Given the description of an element on the screen output the (x, y) to click on. 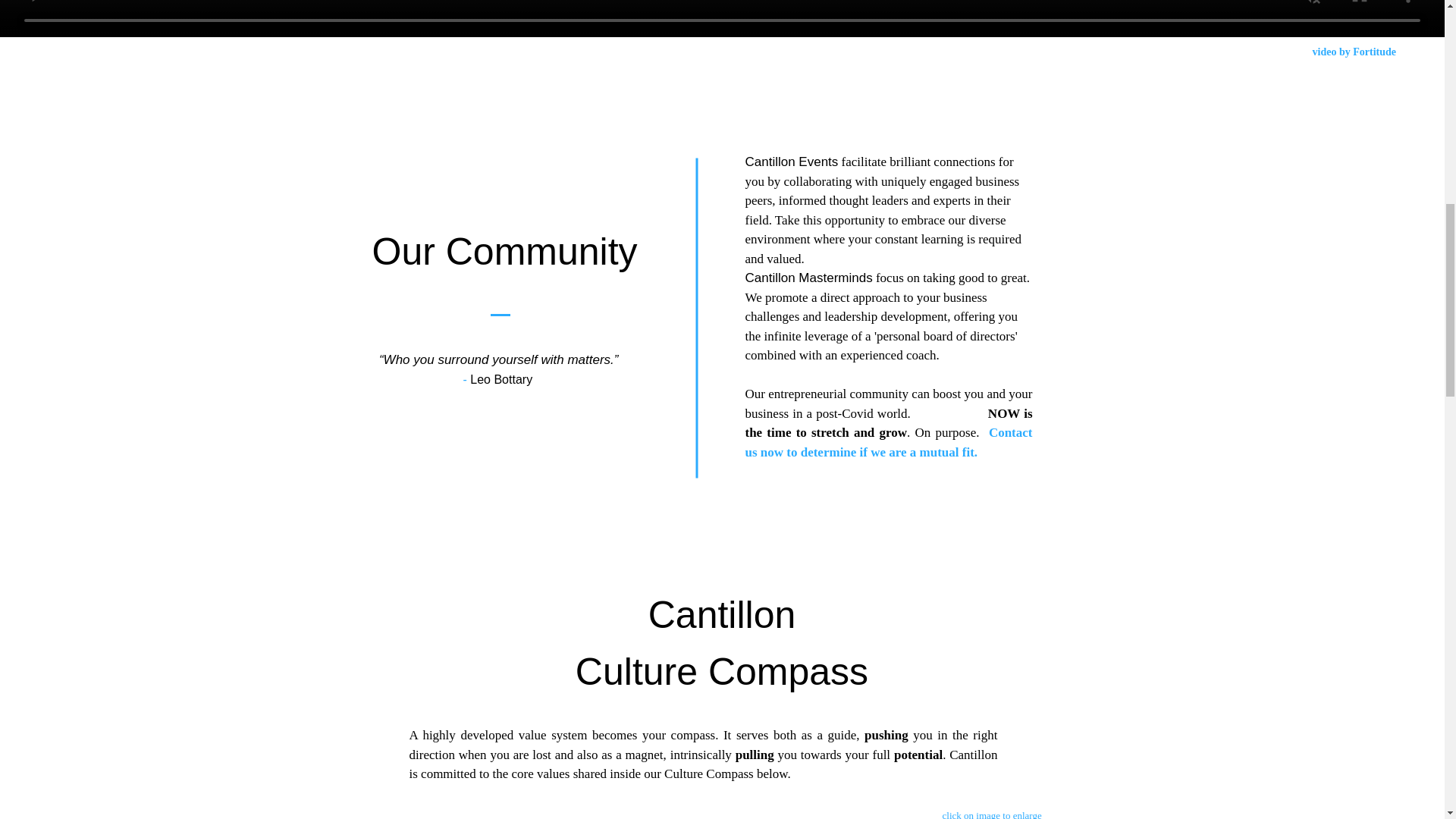
video by Fortitude (1354, 51)
